Given the description of an element on the screen output the (x, y) to click on. 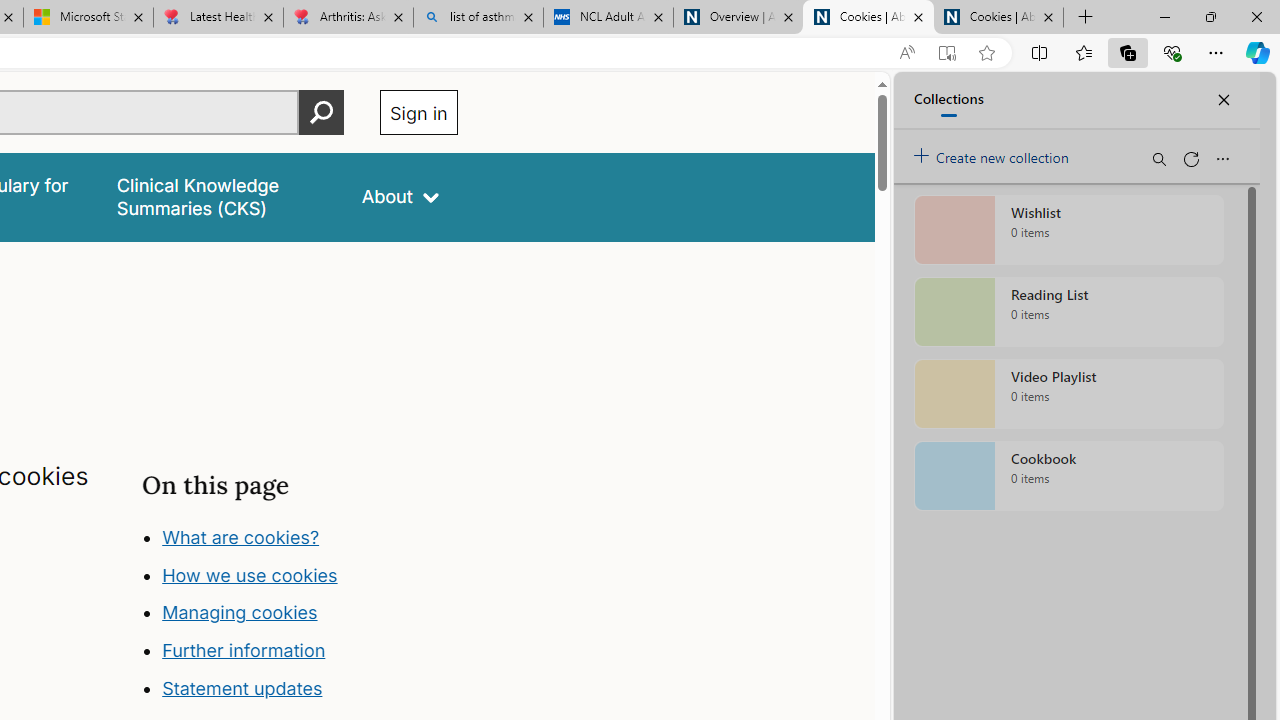
About (400, 196)
Statement updates (242, 688)
About (400, 196)
Class: in-page-nav__list (299, 615)
Arthritis: Ask Health Professionals (348, 17)
